Given the description of an element on the screen output the (x, y) to click on. 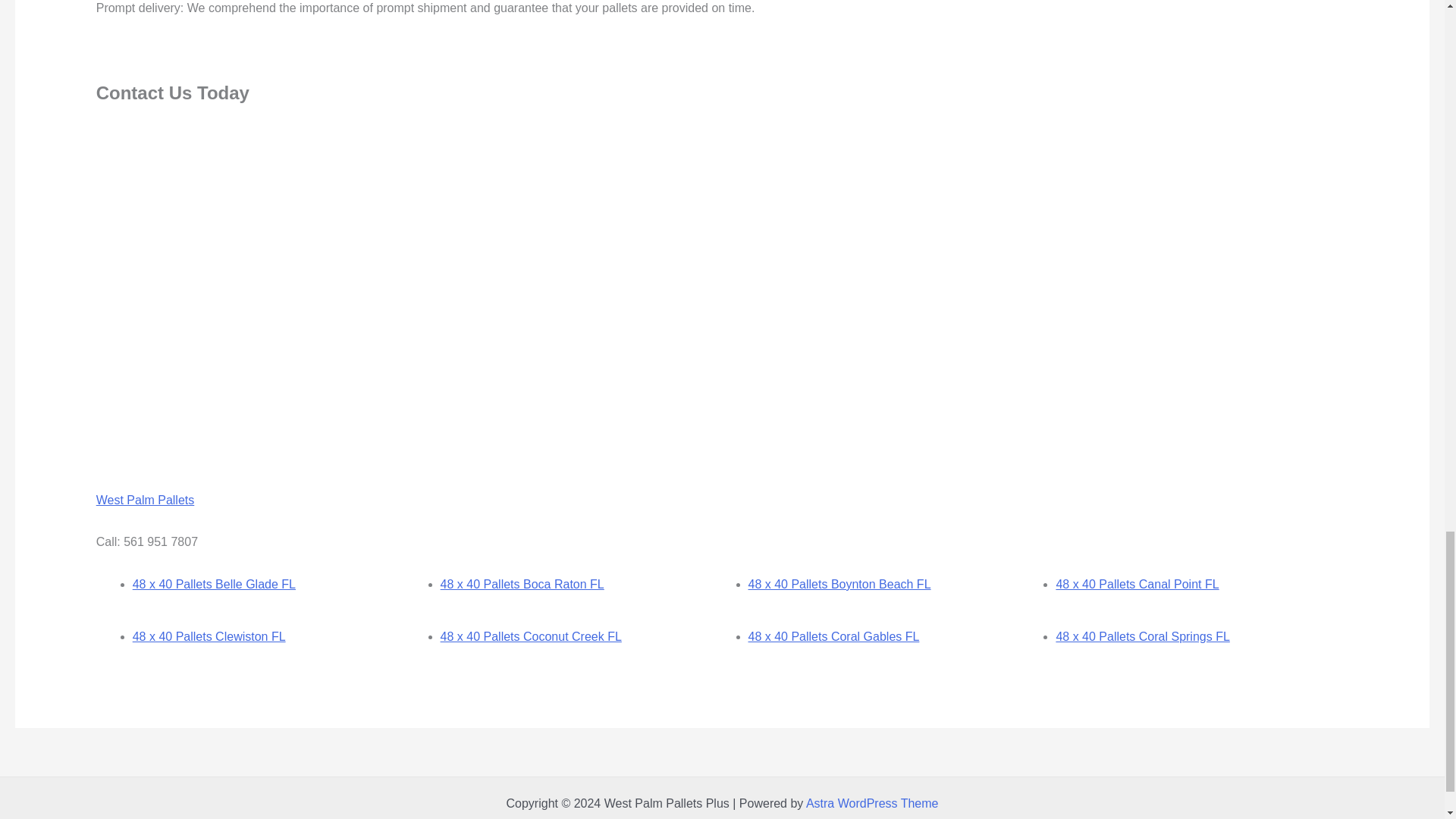
48 x 40 Pallets Boynton Beach FL (839, 584)
48 x 40 Pallets Coral Springs FL (1141, 635)
48 x 40 Pallets Coral Gables FL (833, 635)
48 x 40 Pallets Belle Glade FL (213, 584)
48 x 40 Pallets Canal Point FL (1136, 584)
48 x 40 Pallets Boca Raton FL (522, 584)
48 x 40 Pallets Clewiston FL (208, 635)
48 x 40 Pallets Coconut Creek FL (531, 635)
